Given the description of an element on the screen output the (x, y) to click on. 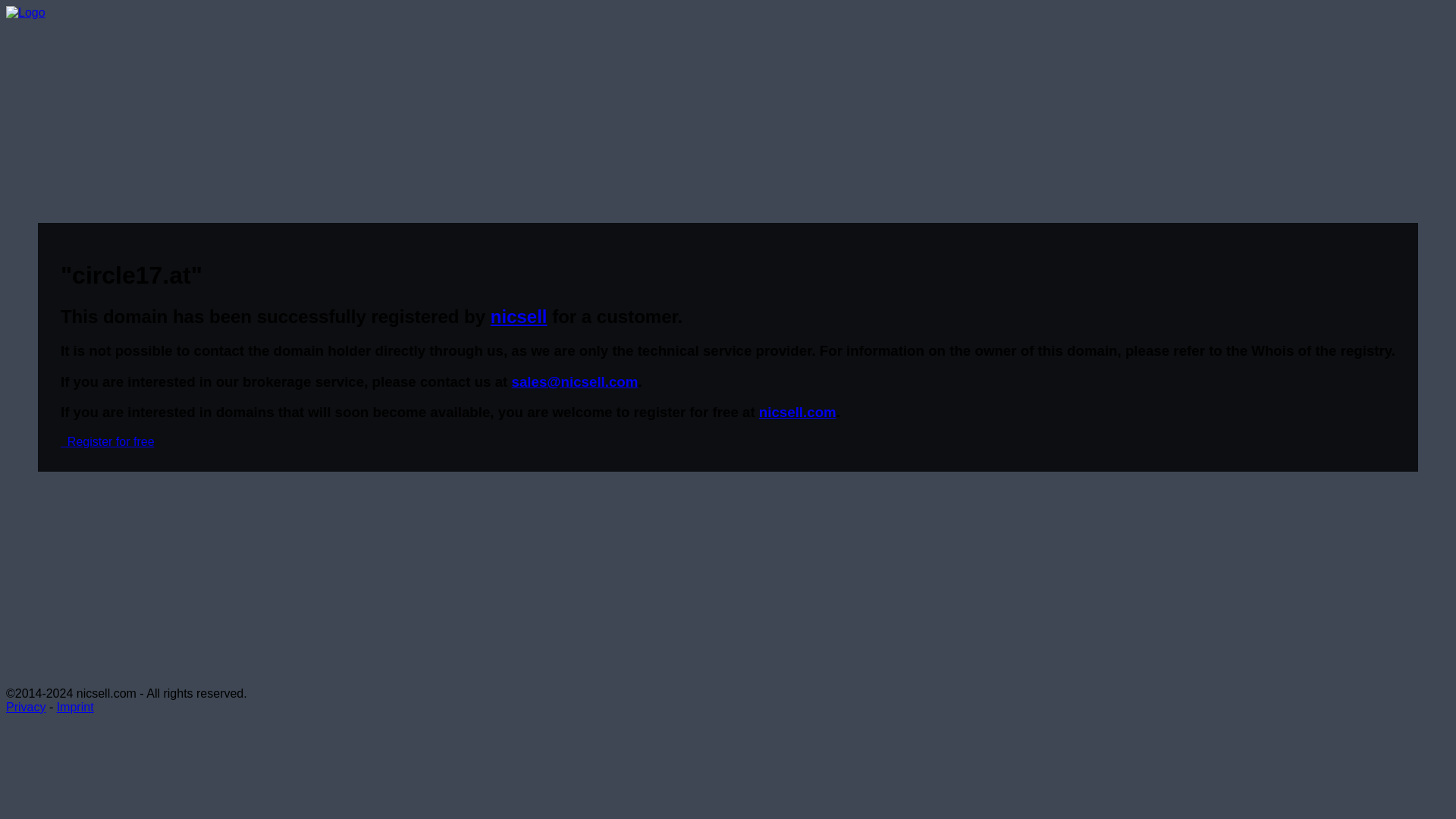
nicsell.com (796, 412)
  Register for free (107, 440)
Imprint (75, 707)
nicsell (518, 316)
Privacy (25, 707)
